Given the description of an element on the screen output the (x, y) to click on. 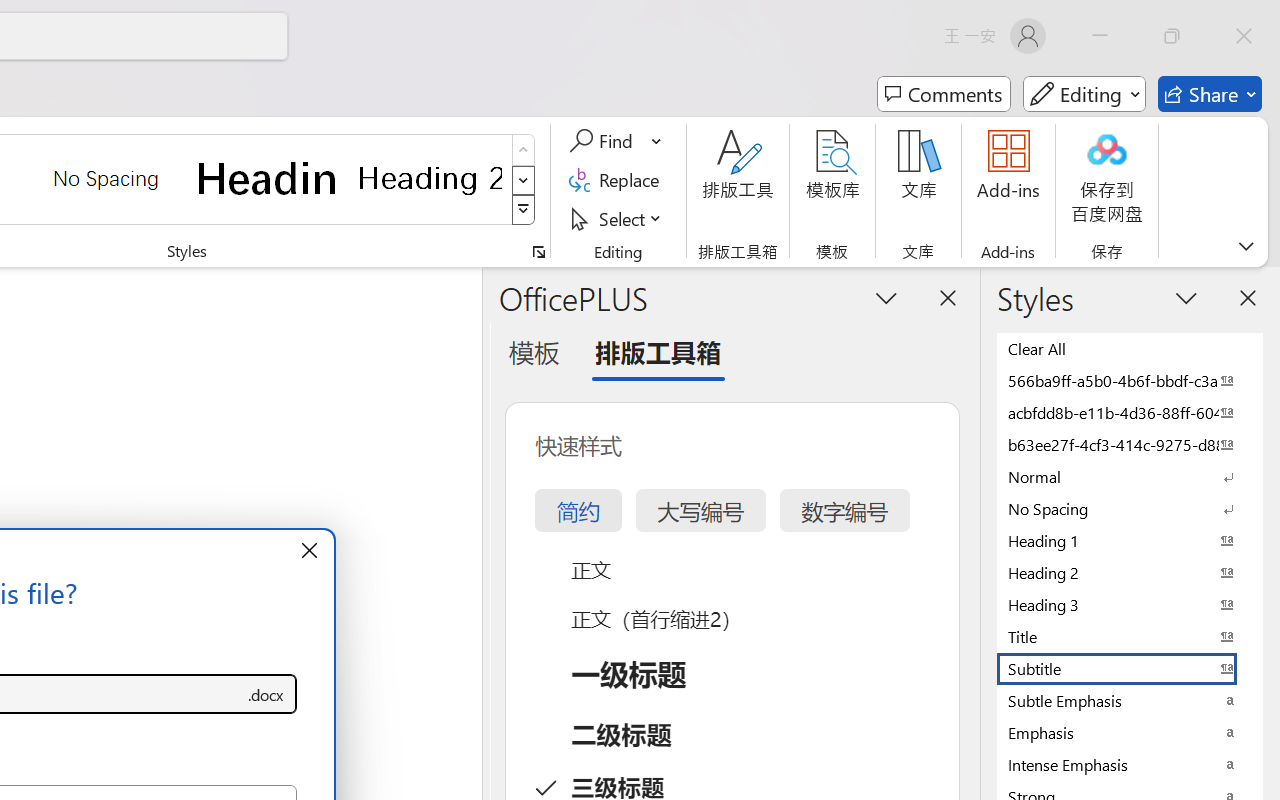
566ba9ff-a5b0-4b6f-bbdf-c3ab41993fc2 (1130, 380)
Ribbon Display Options (1246, 245)
Select (618, 218)
